Given the description of an element on the screen output the (x, y) to click on. 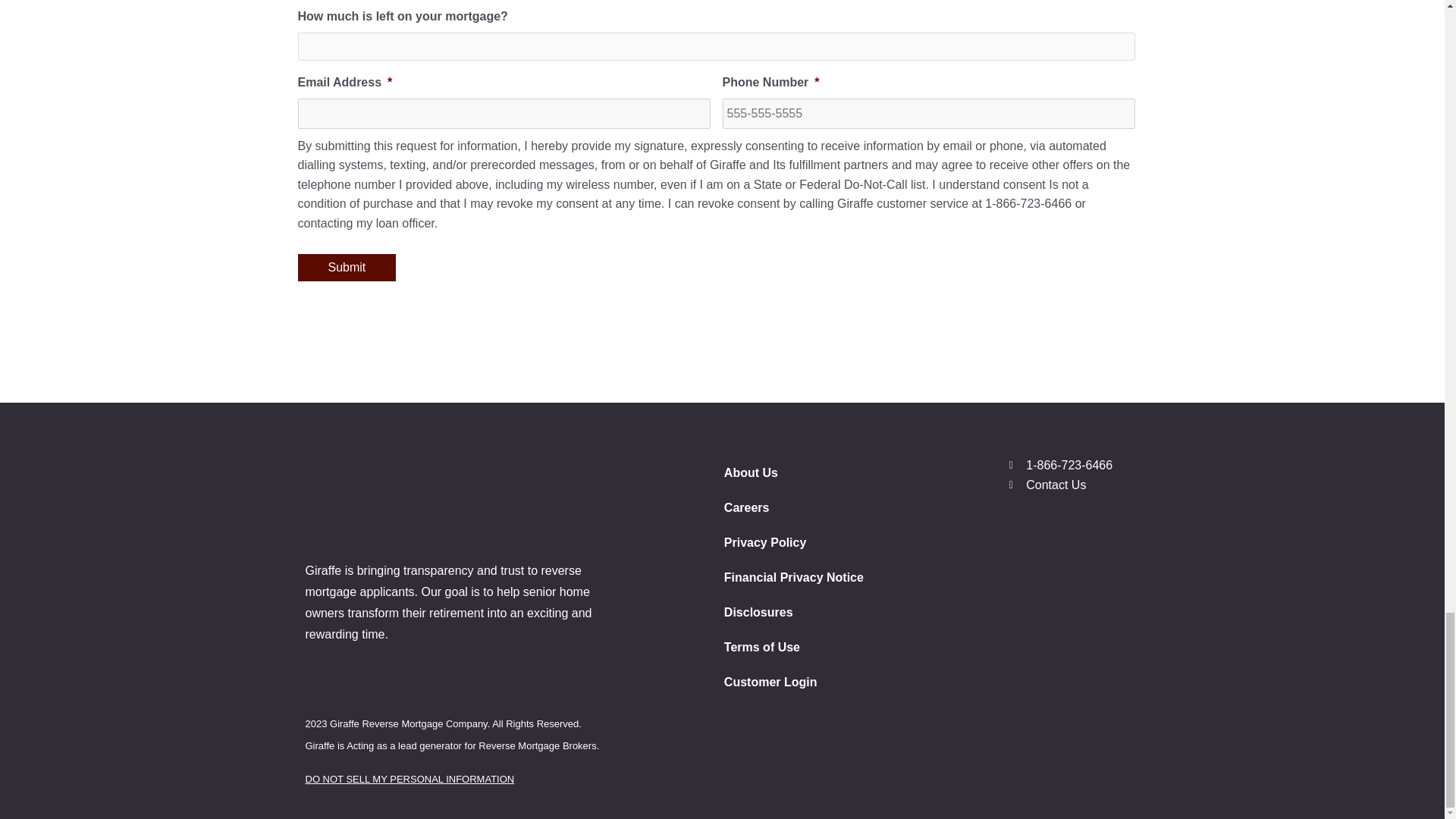
Careers (853, 507)
Submit (346, 267)
About Us (853, 472)
Submit (346, 267)
